Given the description of an element on the screen output the (x, y) to click on. 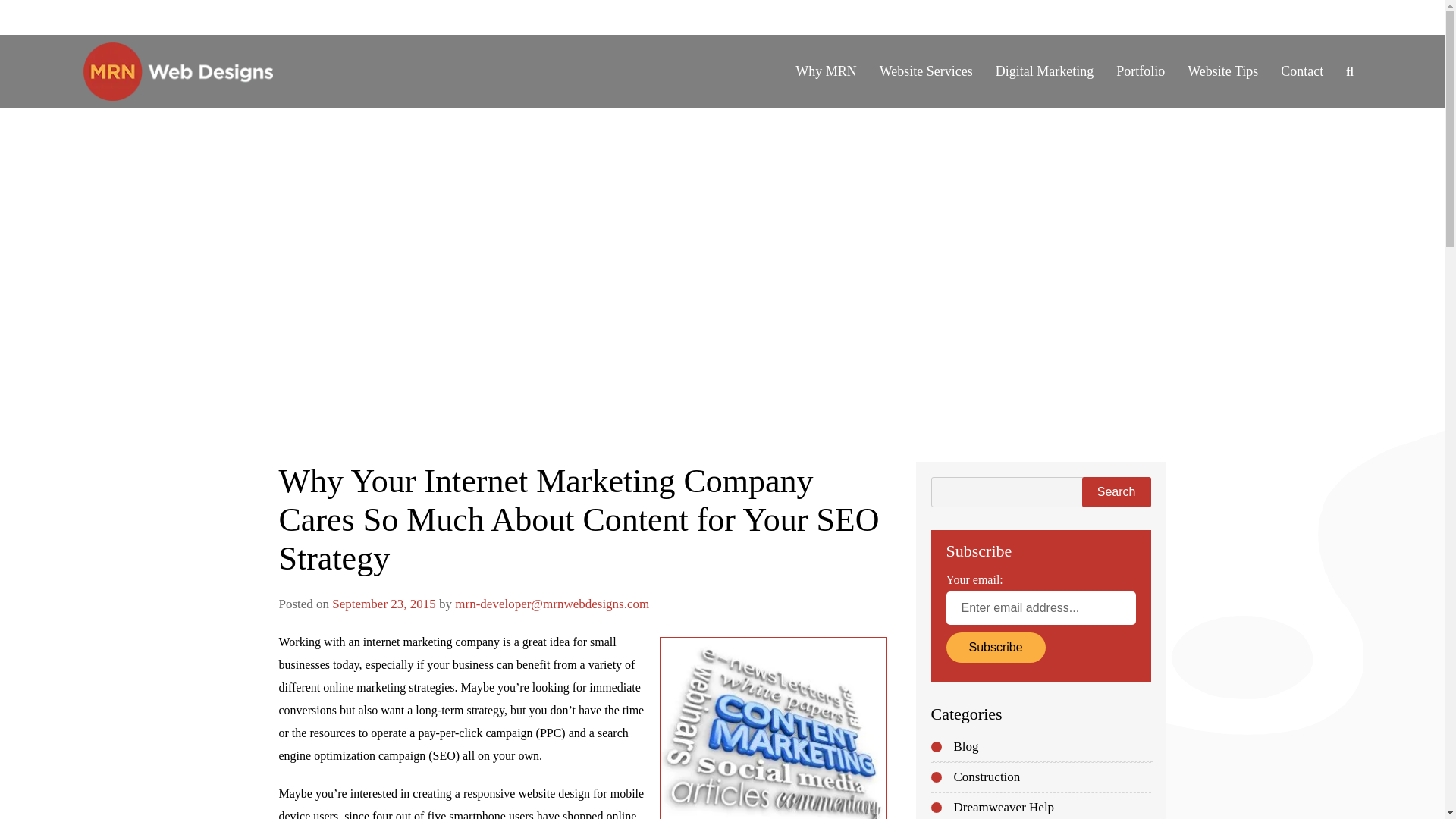
September 23, 2015 (383, 603)
Enter email address... (1040, 607)
Website Services (925, 71)
Subscribe (995, 647)
Digital Marketing (1044, 71)
919-324-1563 (1104, 16)
Website Tips (1222, 71)
